Given the description of an element on the screen output the (x, y) to click on. 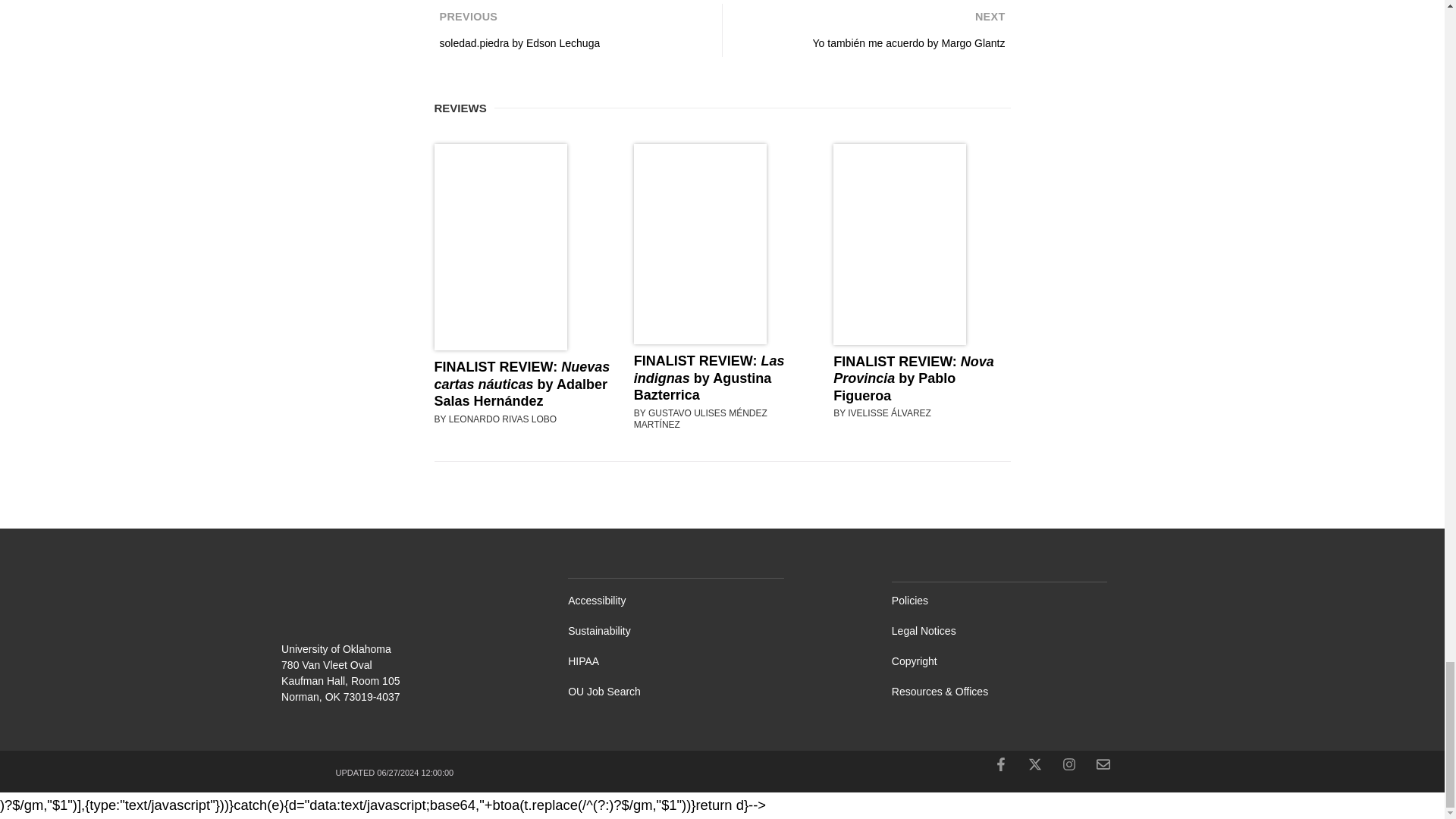
Legal Notices (1045, 631)
Accessibility (721, 601)
LEONARDO RIVAS LOBO (502, 419)
Policies (1045, 601)
HIPAA (721, 661)
Copyright (1045, 661)
FINALIST REVIEW: Las indignas by Agustina Bazterrica (571, 30)
OU Job Search (708, 377)
FINALIST REVIEW: Nova Provincia by Pablo Figueroa (721, 691)
Sustainability (913, 378)
